Given the description of an element on the screen output the (x, y) to click on. 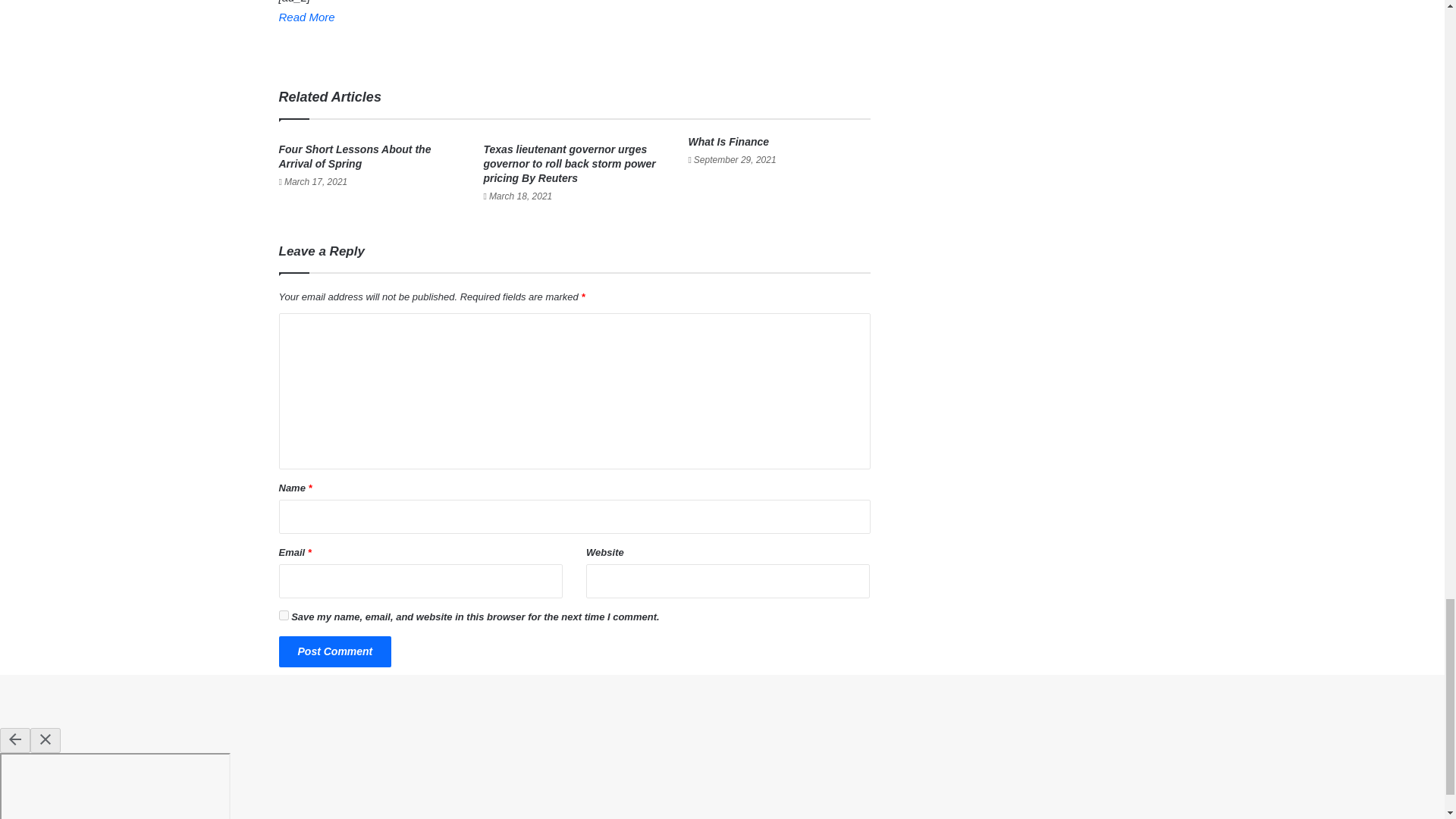
yes (283, 614)
Post Comment (335, 651)
Four Short Lessons About the Arrival of Spring (354, 156)
Post Comment (335, 651)
What Is Finance (727, 141)
Read More (306, 16)
